Given the description of an element on the screen output the (x, y) to click on. 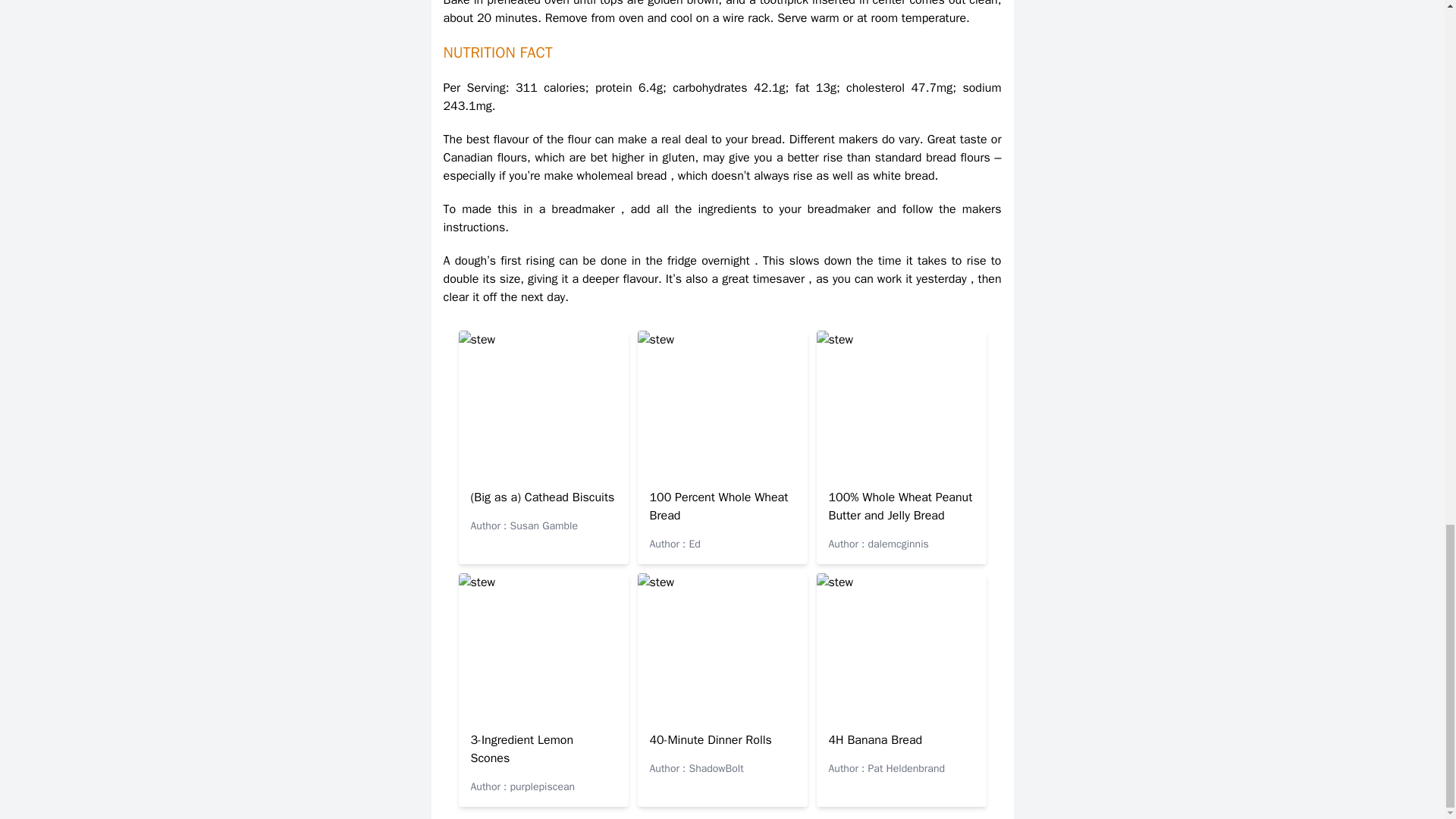
100 Percent Whole Wheat Bread (718, 506)
3-Ingredient Lemon Scones (521, 748)
4H Banana Bread (874, 739)
40-Minute Dinner Rolls (710, 739)
